Given the description of an element on the screen output the (x, y) to click on. 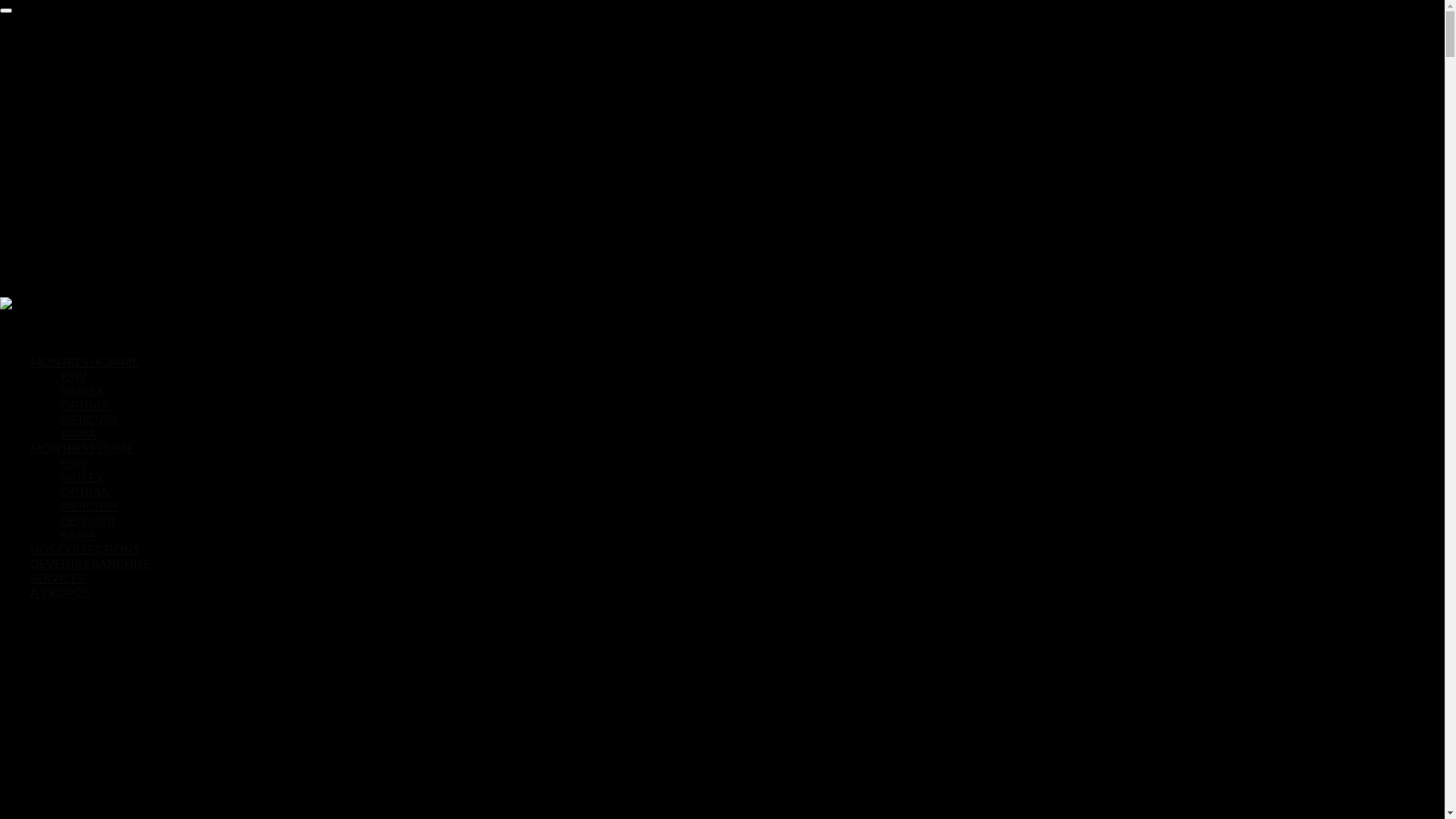
French Element type: hover (39, 639)
OPTIMA Element type: text (83, 86)
A PROPOS Element type: text (59, 606)
RAMA Element type: text (78, 113)
MUREX Element type: text (82, 168)
RSW Element type: text (73, 375)
NOS COLLECTIONS Element type: text (84, 563)
A PROPOS Element type: text (58, 277)
GEOVANI Element type: text (87, 209)
MERCURY Element type: text (89, 195)
SERVICES Element type: text (57, 592)
MONTRES FEMME Element type: text (81, 462)
RAMA Element type: text (78, 433)
MUREX Element type: text (81, 389)
OPTIMA Element type: text (84, 404)
MERCURY Element type: text (89, 505)
English Element type: hover (39, 621)
GEOVANI Element type: text (87, 519)
MERCURY Element type: text (89, 418)
OPTIMA Element type: text (83, 181)
RAMA Element type: text (78, 222)
NOS COLLECTIONS Element type: text (85, 236)
MERCURY Element type: text (89, 100)
OPTIMA Element type: text (84, 490)
SERVICES Element type: text (58, 263)
RSW Element type: text (73, 59)
RAMA Element type: text (78, 534)
RSW Element type: text (73, 462)
MUREX Element type: text (82, 72)
MONTRES HOMME Element type: text (84, 376)
RSW Element type: text (73, 154)
MUREX Element type: text (81, 476)
